Given the description of an element on the screen output the (x, y) to click on. 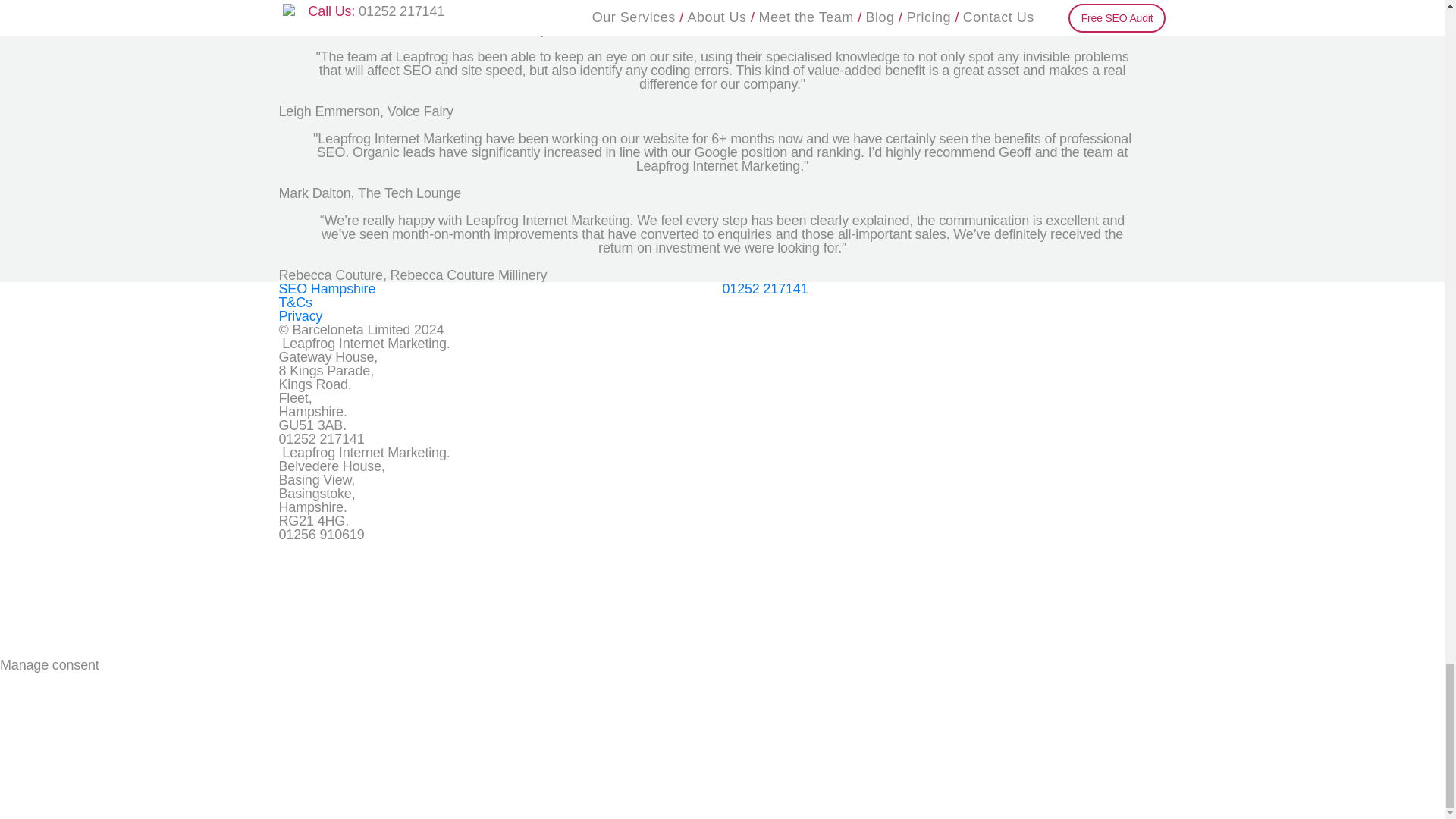
01252 217141 (765, 288)
privacy and cookie policy (301, 315)
terms and conditions (296, 302)
SEO Agency in Hampshire (327, 288)
SEO Hampshire (327, 288)
Privacy (301, 315)
